Given the description of an element on the screen output the (x, y) to click on. 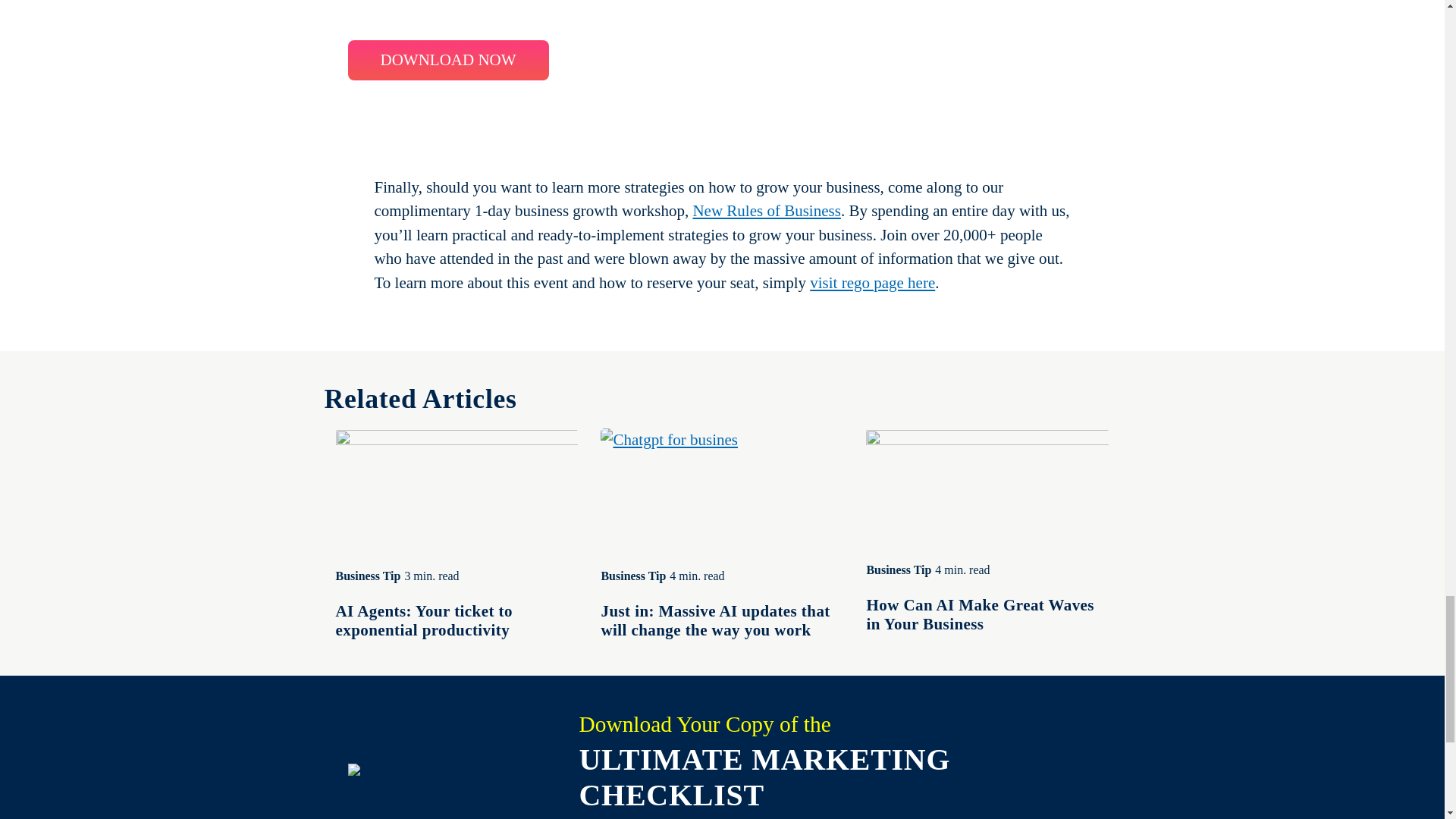
DOWNLOAD NOW (447, 59)
DOWNLOAD NOW (447, 60)
New Rules of Business (766, 210)
visit rego page here (871, 282)
AI Agents: Your ticket to exponential productivity (423, 620)
